Given the description of an element on the screen output the (x, y) to click on. 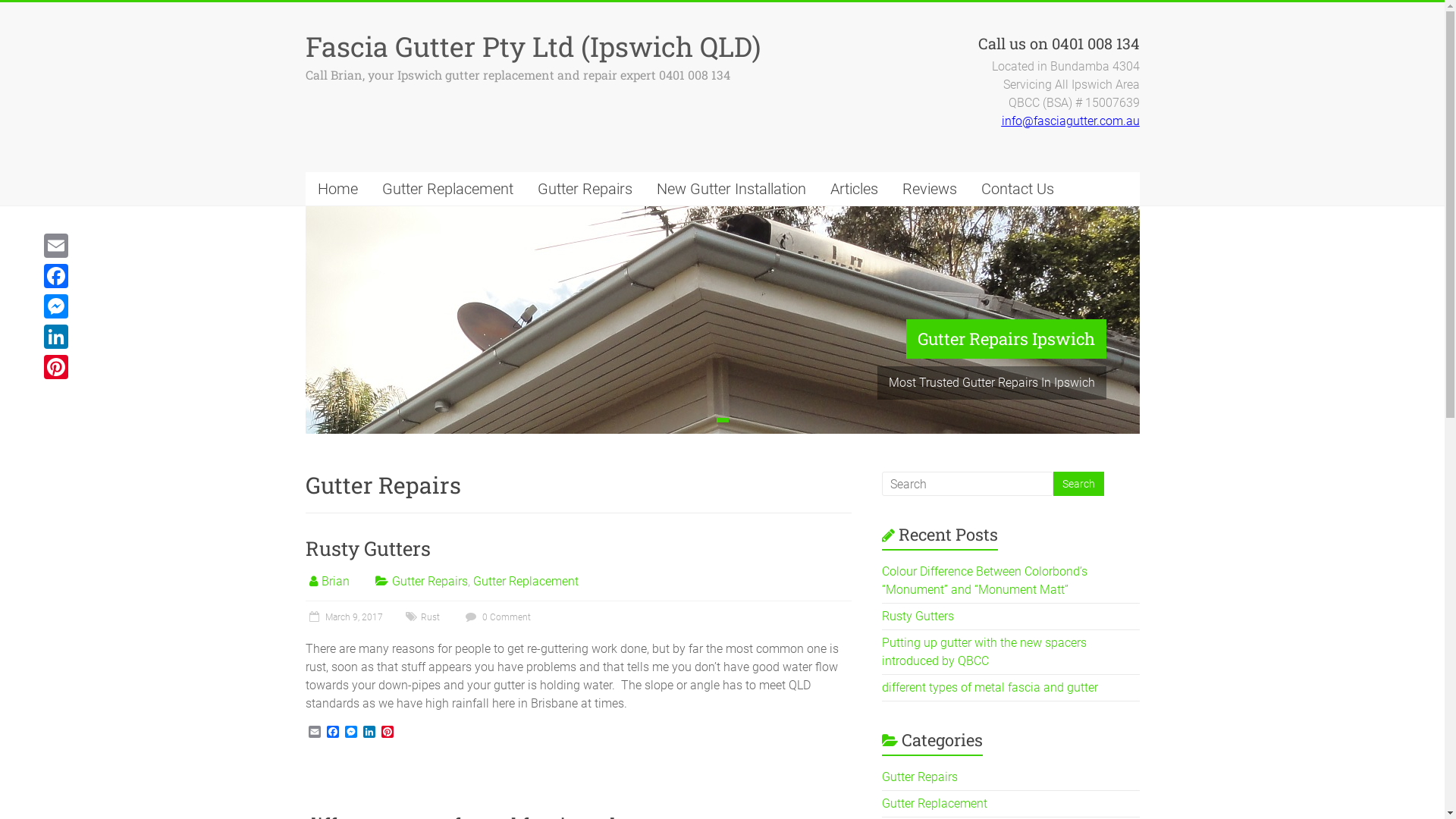
Gutter Repairs Element type: text (429, 581)
Messenger Element type: text (55, 306)
Rusty Gutters Element type: text (917, 615)
Home Element type: text (336, 188)
Rusty Gutters Element type: text (366, 548)
Gutter Replacement Element type: text (447, 188)
Articles Element type: text (853, 188)
Gutter Repairs Ipswich Element type: text (1005, 338)
LinkedIn Element type: text (368, 732)
Gutter Replacement Element type: text (525, 581)
Email Element type: text (313, 732)
info@fasciagutter.com.au Element type: text (1070, 120)
Contact Us Element type: text (1017, 188)
Pinterest Element type: text (386, 732)
Reviews Element type: text (929, 188)
Fascia Gutter Pty Ltd (Ipswich QLD) Element type: text (532, 46)
New Gutter Installation Element type: text (731, 188)
Brian Element type: text (335, 581)
different types of metal fascia and gutter Element type: text (989, 687)
Putting up gutter with the new spacers introduced by QBCC Element type: text (983, 651)
Gutter Repairs Element type: text (583, 188)
Rust Element type: text (429, 616)
Messenger Element type: text (350, 732)
LinkedIn Element type: text (55, 336)
March 9, 2017 Element type: text (343, 616)
Facebook Element type: text (55, 275)
Gutter Repairs Element type: text (919, 776)
Facebook Element type: text (332, 732)
Pinterest Element type: text (55, 366)
Search Element type: text (1077, 483)
0 Comment Element type: text (495, 616)
Email Element type: text (55, 245)
Gutter Replacement Element type: text (934, 803)
